Given the description of an element on the screen output the (x, y) to click on. 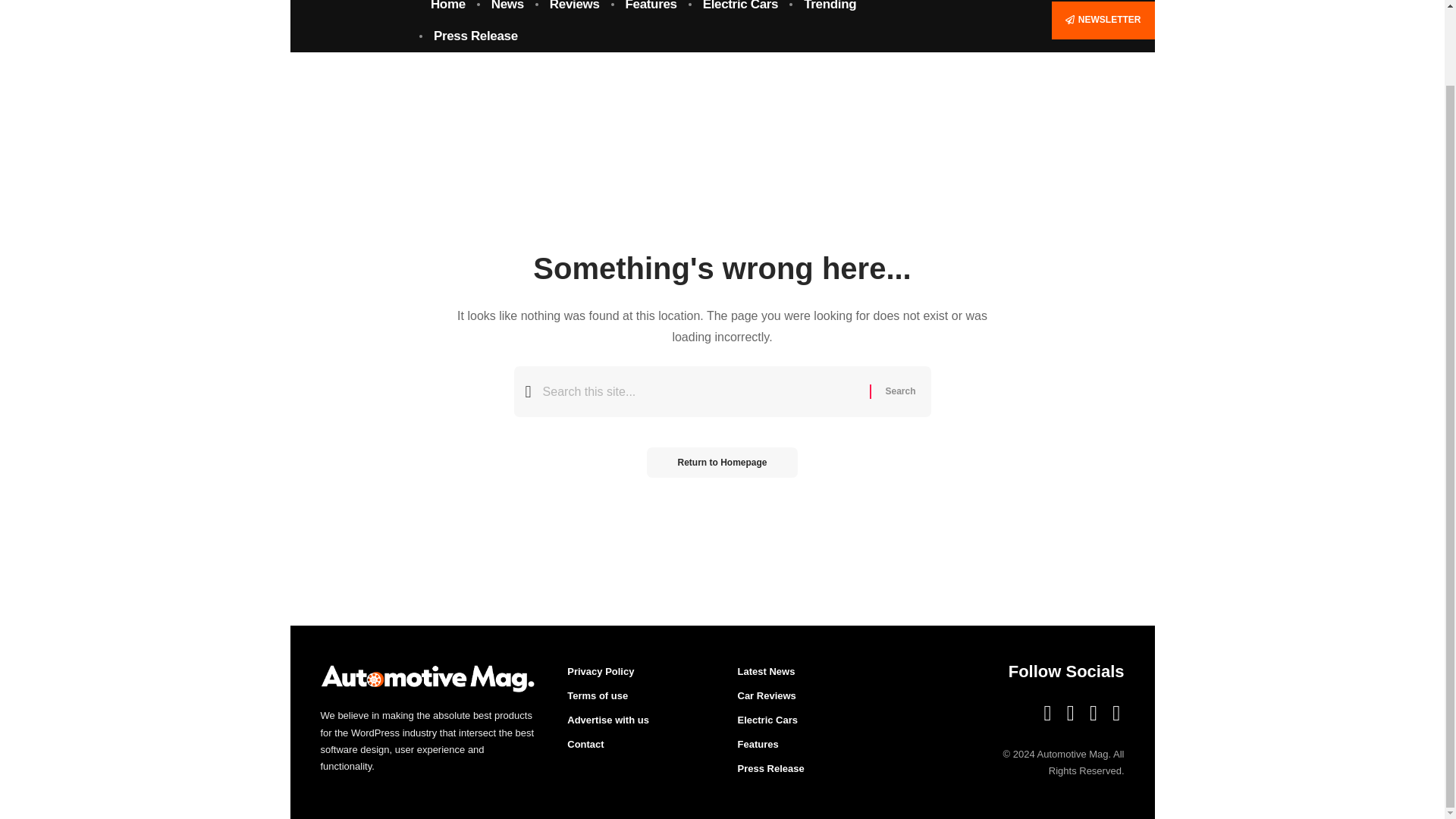
Privacy Policy (636, 673)
Home (448, 10)
Press Release (475, 36)
Search (899, 391)
Return to Homepage (721, 462)
Trending (829, 10)
Electric Cars (740, 10)
NEWSLETTER (1102, 20)
Search (899, 391)
Features (651, 10)
News (507, 10)
Terms of use (636, 695)
Reviews (574, 10)
